Given the description of an element on the screen output the (x, y) to click on. 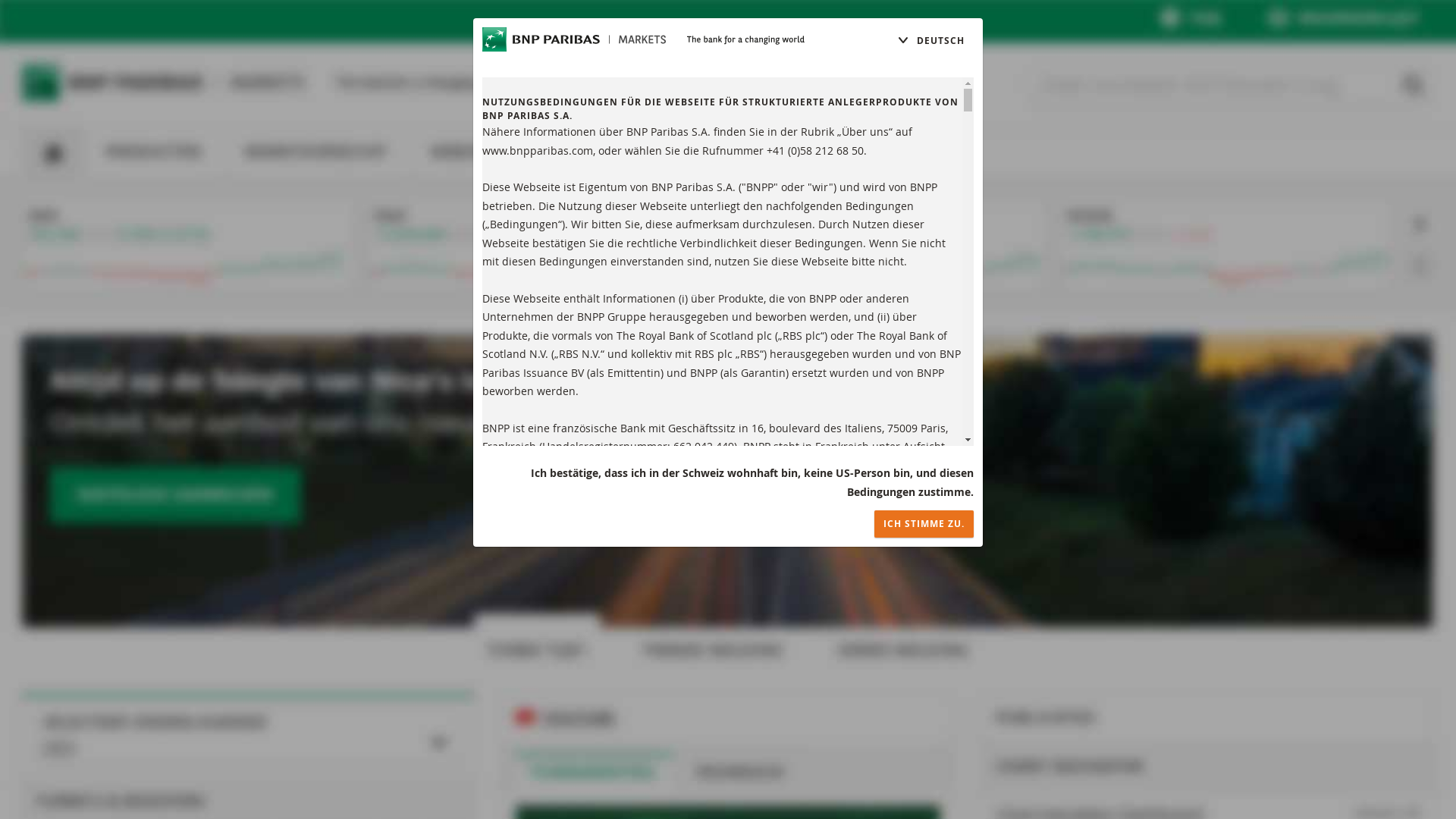
Ich stimme zu. Element type: text (923, 523)
DEUTSCH Element type: text (930, 40)
Zur Homepage navigieren Element type: hover (573, 39)
